Given the description of an element on the screen output the (x, y) to click on. 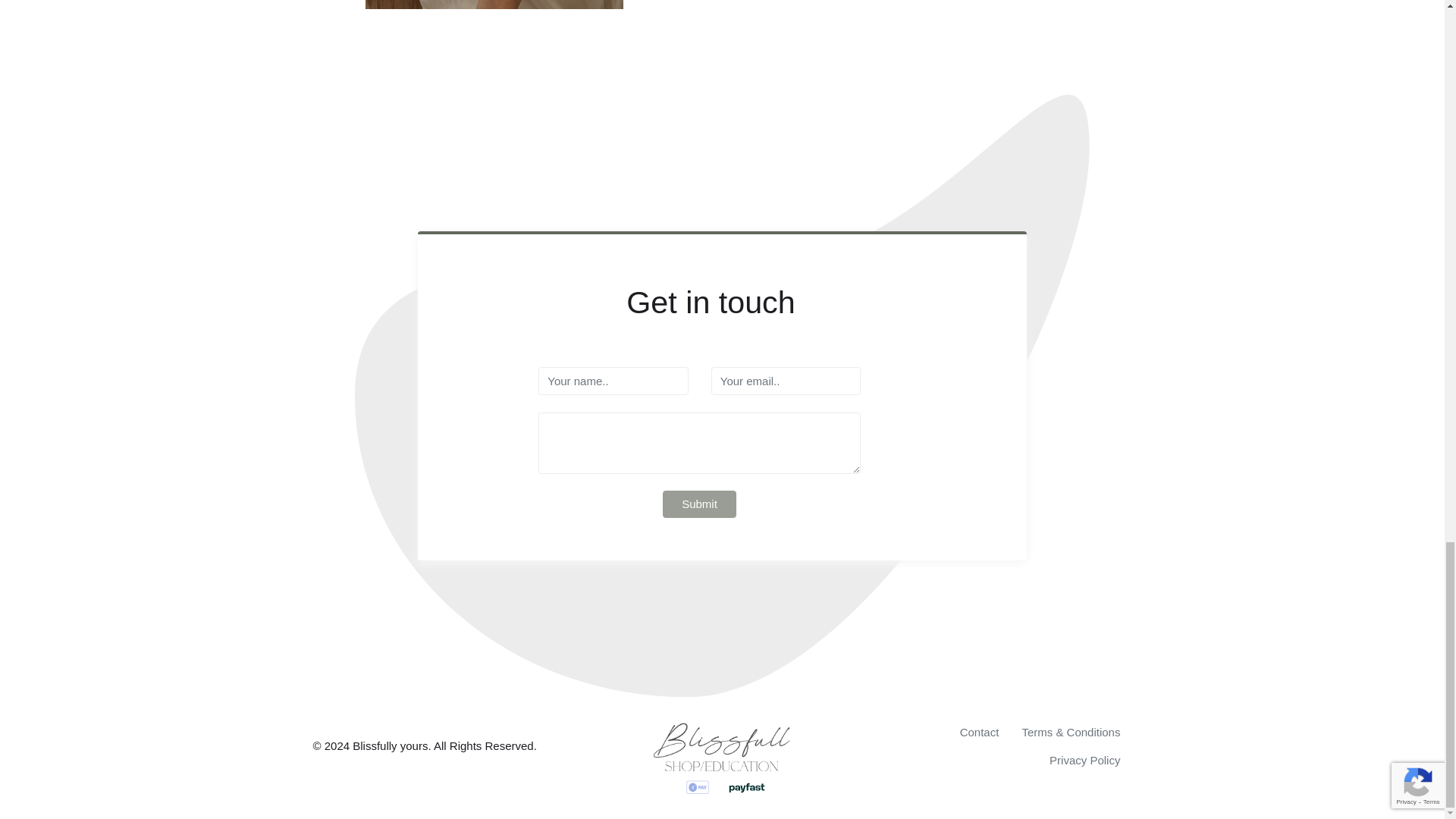
Contact (979, 732)
Submit (699, 503)
Privacy Policy (1084, 760)
Submit (699, 503)
